Given the description of an element on the screen output the (x, y) to click on. 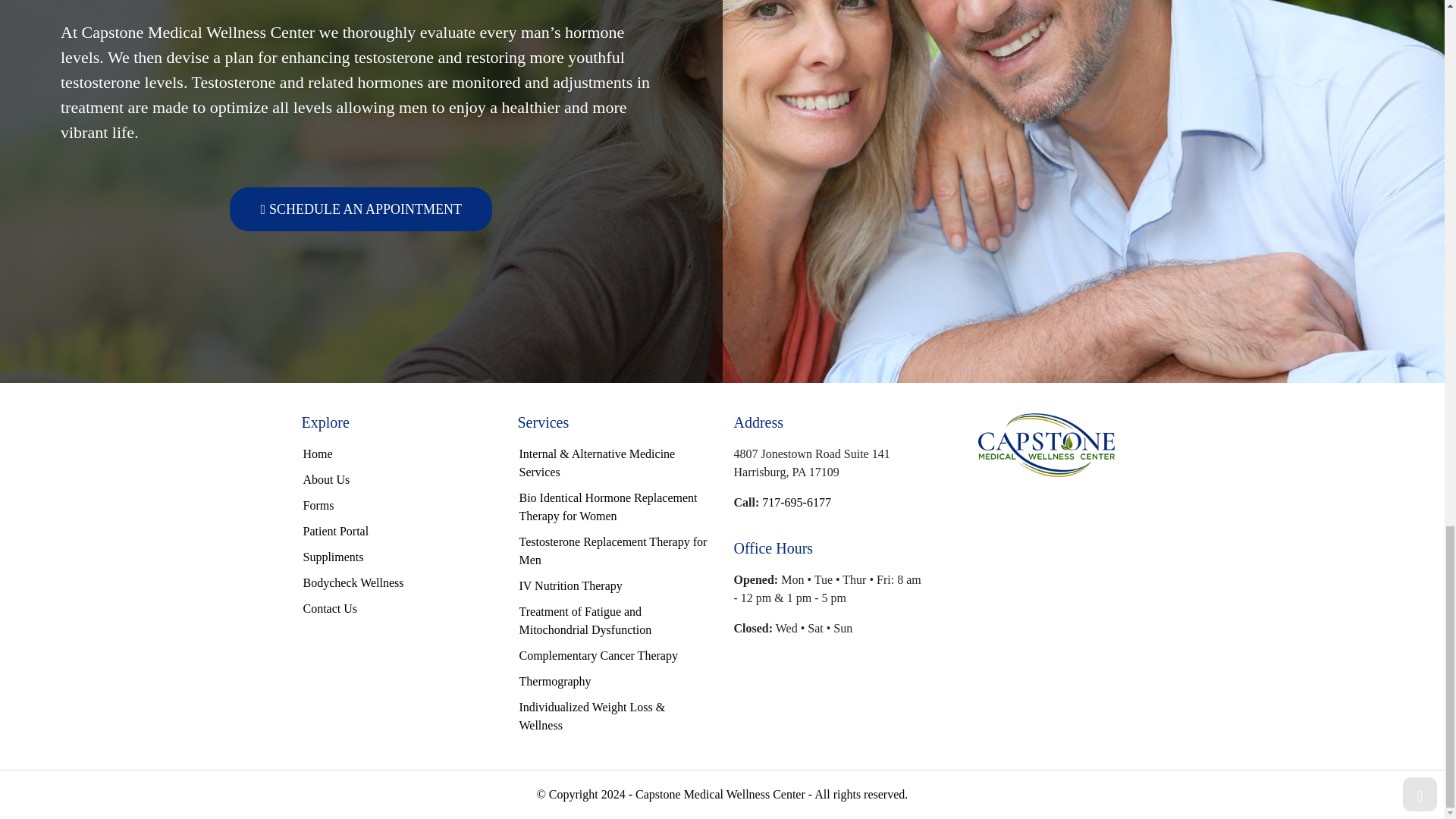
Testosterone Replacement Therapy for Men (612, 550)
Treatment of Fatigue and Mitochondrial Dysfunction (584, 620)
IV Nutrition Therapy (569, 585)
Forms (318, 504)
Bio Identical Hormone Replacement Therapy for Women (607, 506)
Home (317, 453)
Contact Us (330, 608)
About Us (326, 479)
Bodycheck Wellness (353, 582)
Patient Portal (335, 530)
SCHEDULE AN APPOINTMENT (361, 208)
Suppliments (333, 556)
Complementary Cancer Therapy (597, 655)
